Given the description of an element on the screen output the (x, y) to click on. 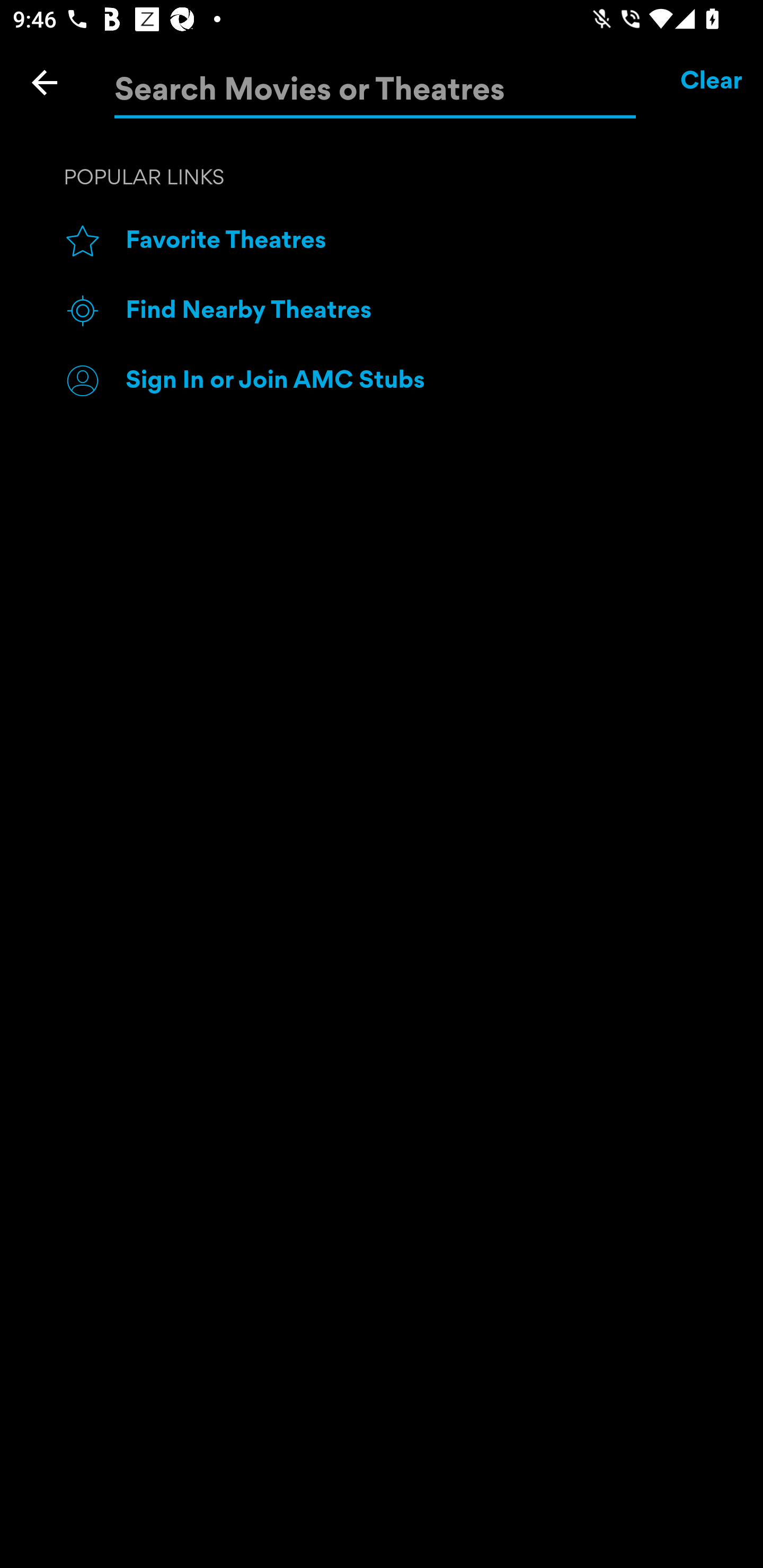
Back (44, 82)
Clear (712, 82)
Favorite Theatres (413, 241)
Find Nearby Theatres (413, 310)
Sign In or Join AMC Stubs (413, 380)
